Given the description of an element on the screen output the (x, y) to click on. 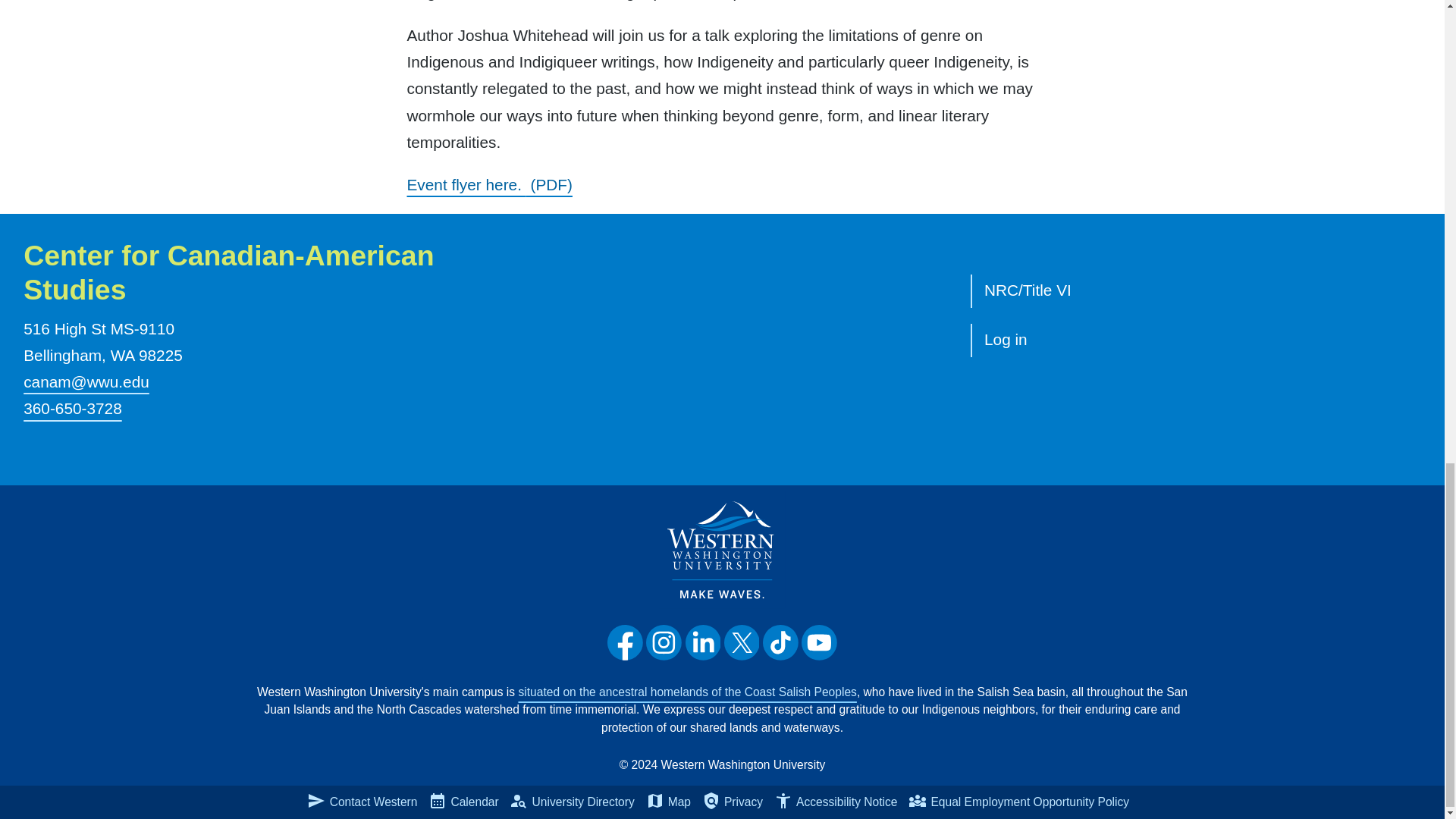
Event flyer here.  (489, 184)
360-650-3728 (72, 408)
Western Logo (721, 549)
QR Joshua Whitehead flyer.pdf (489, 184)
